Given the description of an element on the screen output the (x, y) to click on. 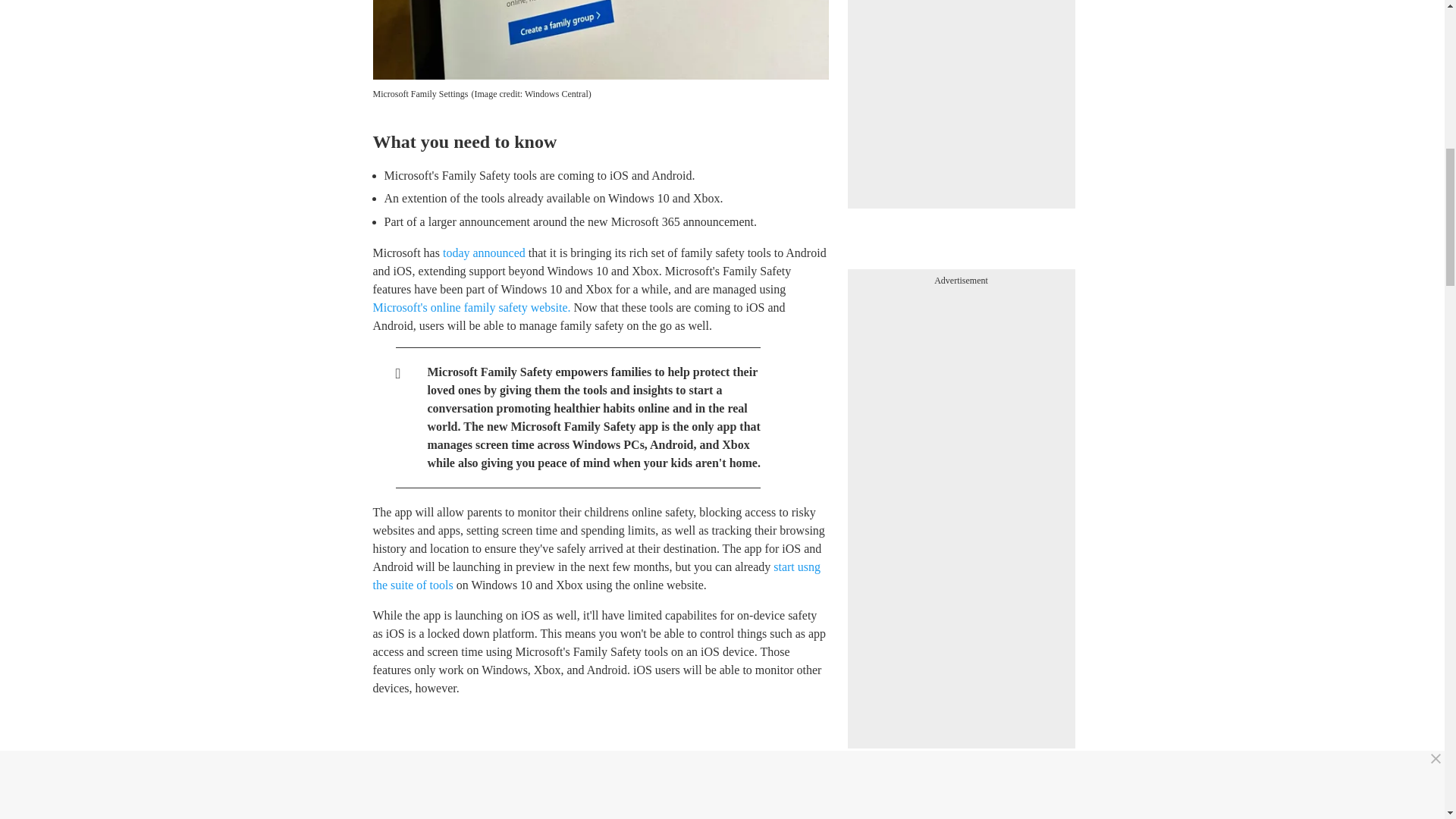
today announced (483, 252)
Microsoft's online family safety website. (471, 307)
start usng the suite of tools (596, 575)
